Given the description of an element on the screen output the (x, y) to click on. 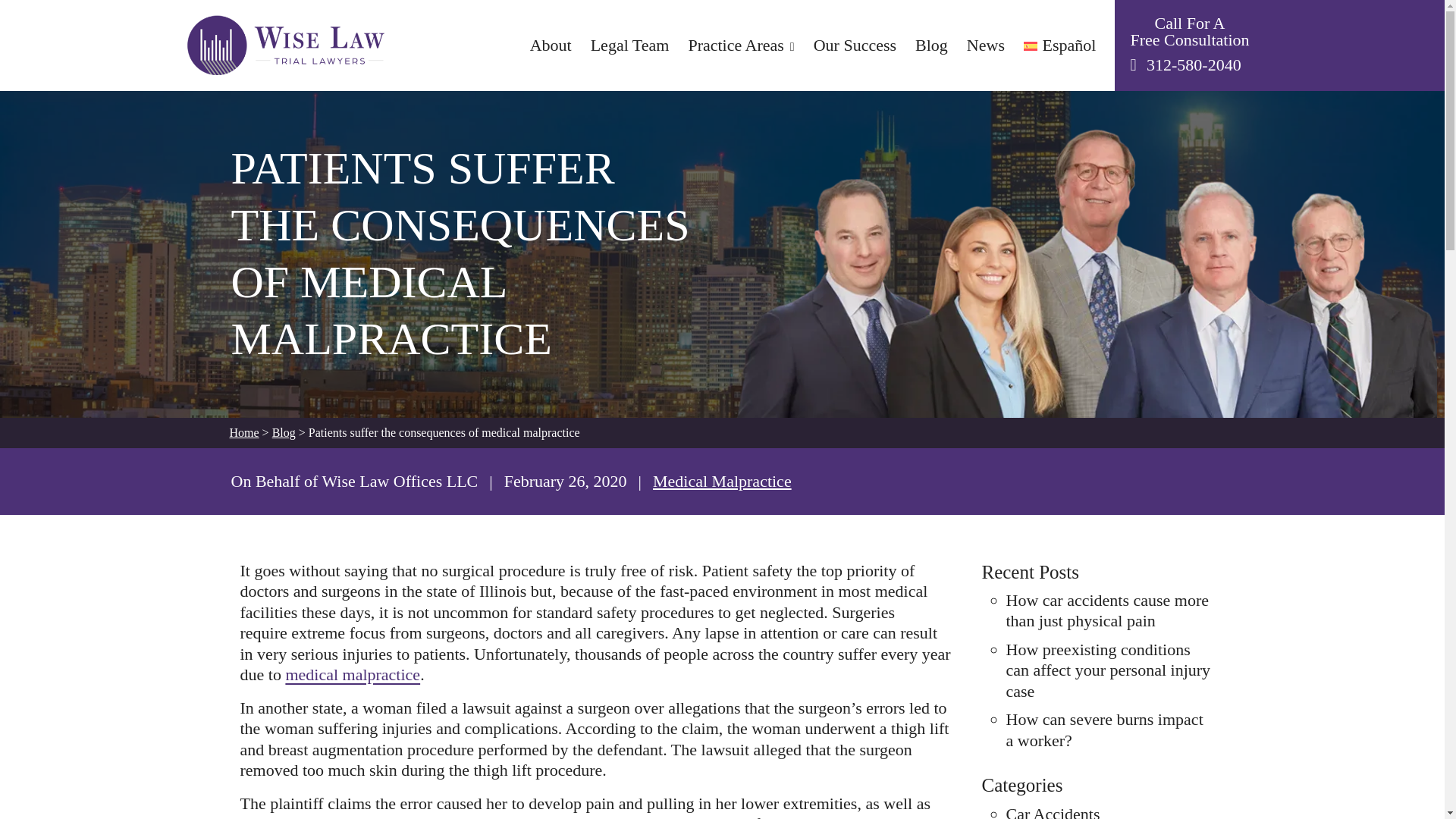
Home (243, 431)
Medical Malpractice (722, 480)
How car accidents cause more than just physical pain (1107, 610)
Our Success (854, 45)
How can severe burns impact a worker? (1104, 730)
Practice Areas (740, 45)
Blog (283, 431)
Go to Wise Law Offices LLC. (243, 431)
Legal Team (630, 45)
312-580-2040 (1194, 64)
About (550, 45)
medical malpractice (352, 674)
Car Accidents (1052, 811)
Blog (931, 45)
